Given the description of an element on the screen output the (x, y) to click on. 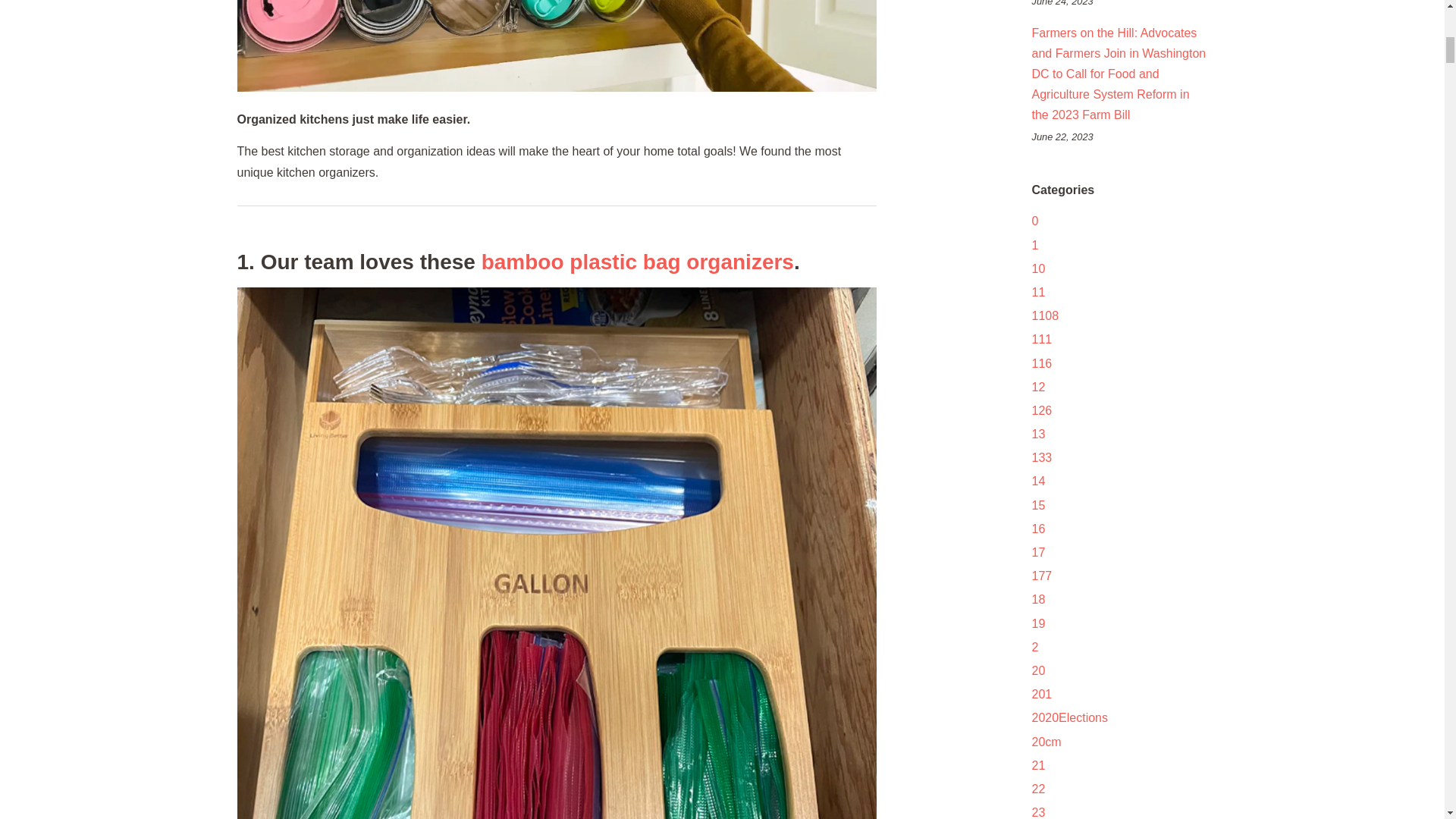
Show articles tagged 10 (1037, 268)
Show articles tagged 11 (1037, 291)
Show articles tagged 126 (1040, 410)
Show articles tagged 13 (1037, 433)
Show articles tagged 1108 (1044, 315)
Show articles tagged 116 (1040, 362)
Show articles tagged 133 (1040, 457)
Show articles tagged 16 (1037, 528)
Show articles tagged 12 (1037, 386)
Show articles tagged 17 (1037, 552)
